Given the description of an element on the screen output the (x, y) to click on. 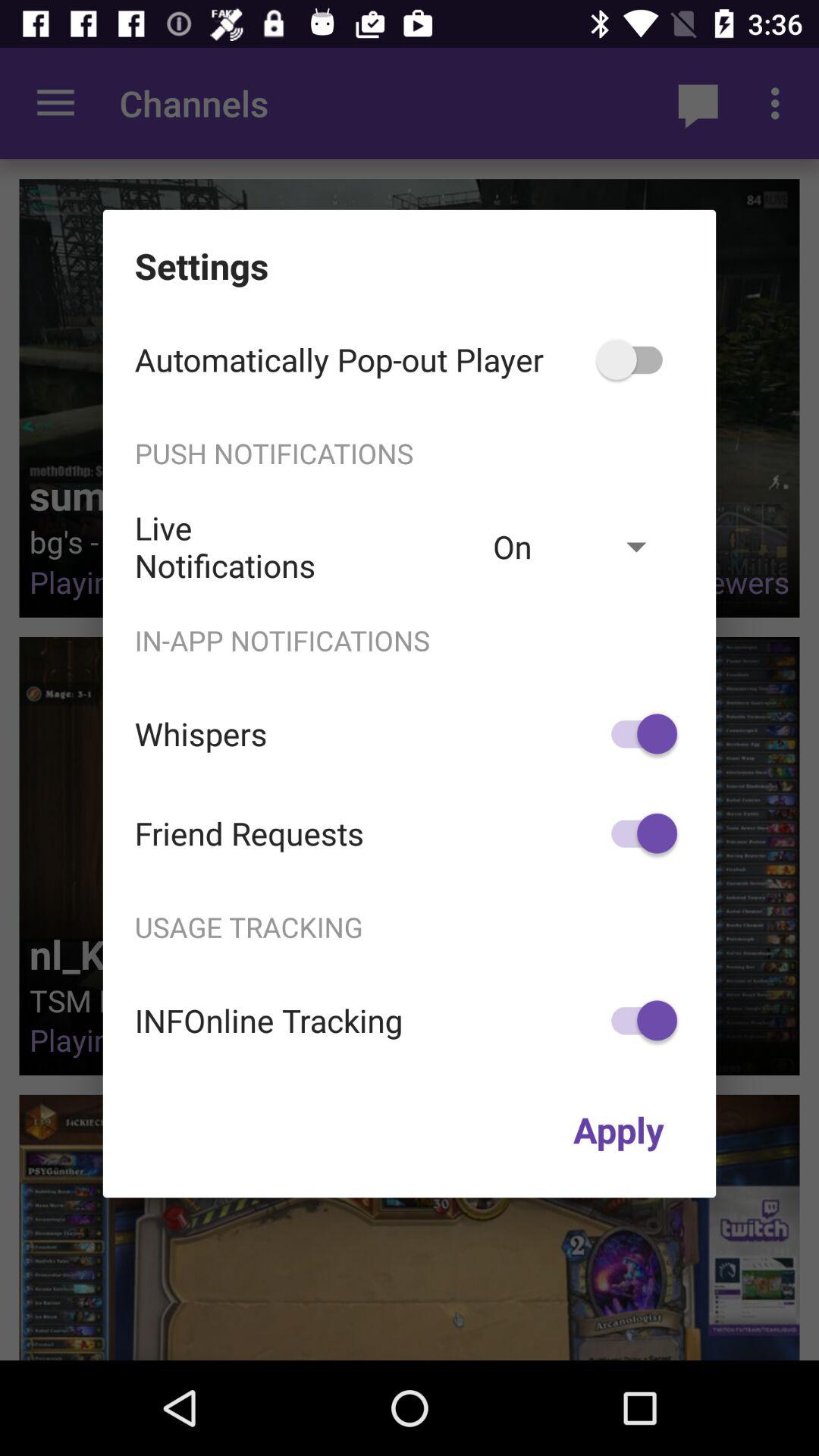
select icon next to friend requests item (636, 833)
